Given the description of an element on the screen output the (x, y) to click on. 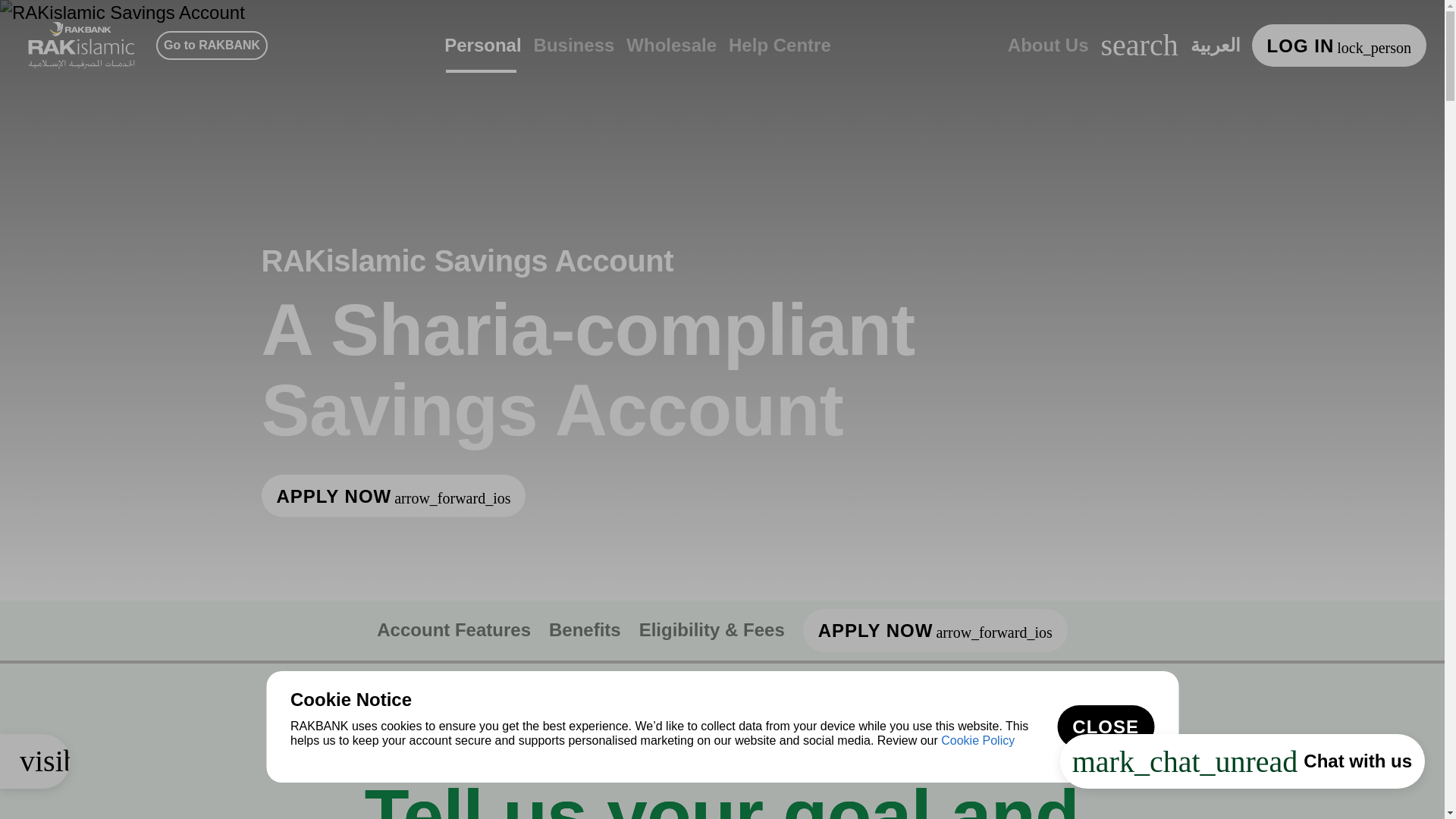
Go to RAKBANK (211, 45)
Personal (482, 62)
Benefits (584, 630)
Account Features (454, 630)
